Given the description of an element on the screen output the (x, y) to click on. 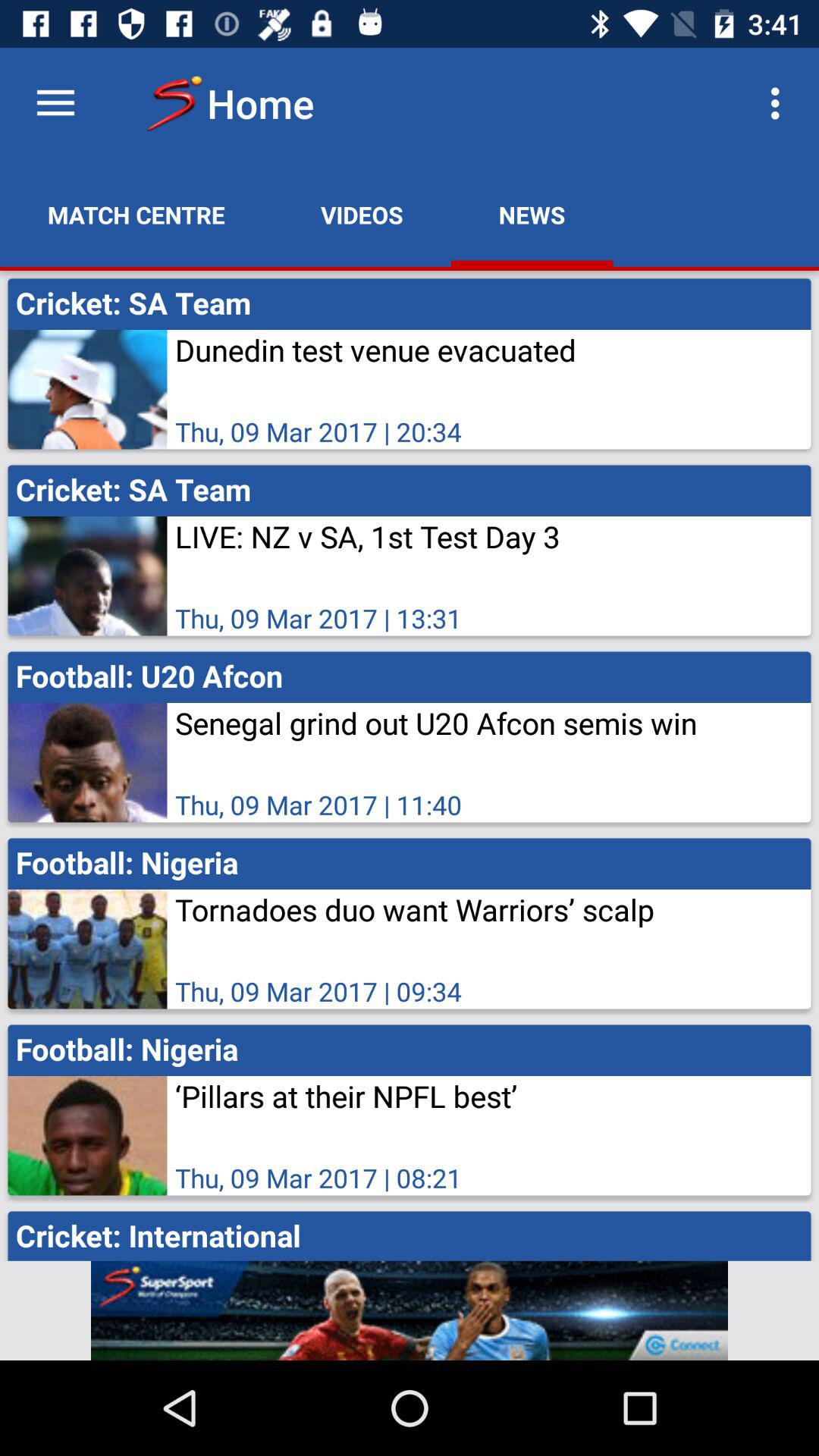
advertisement (409, 1310)
